Given the description of an element on the screen output the (x, y) to click on. 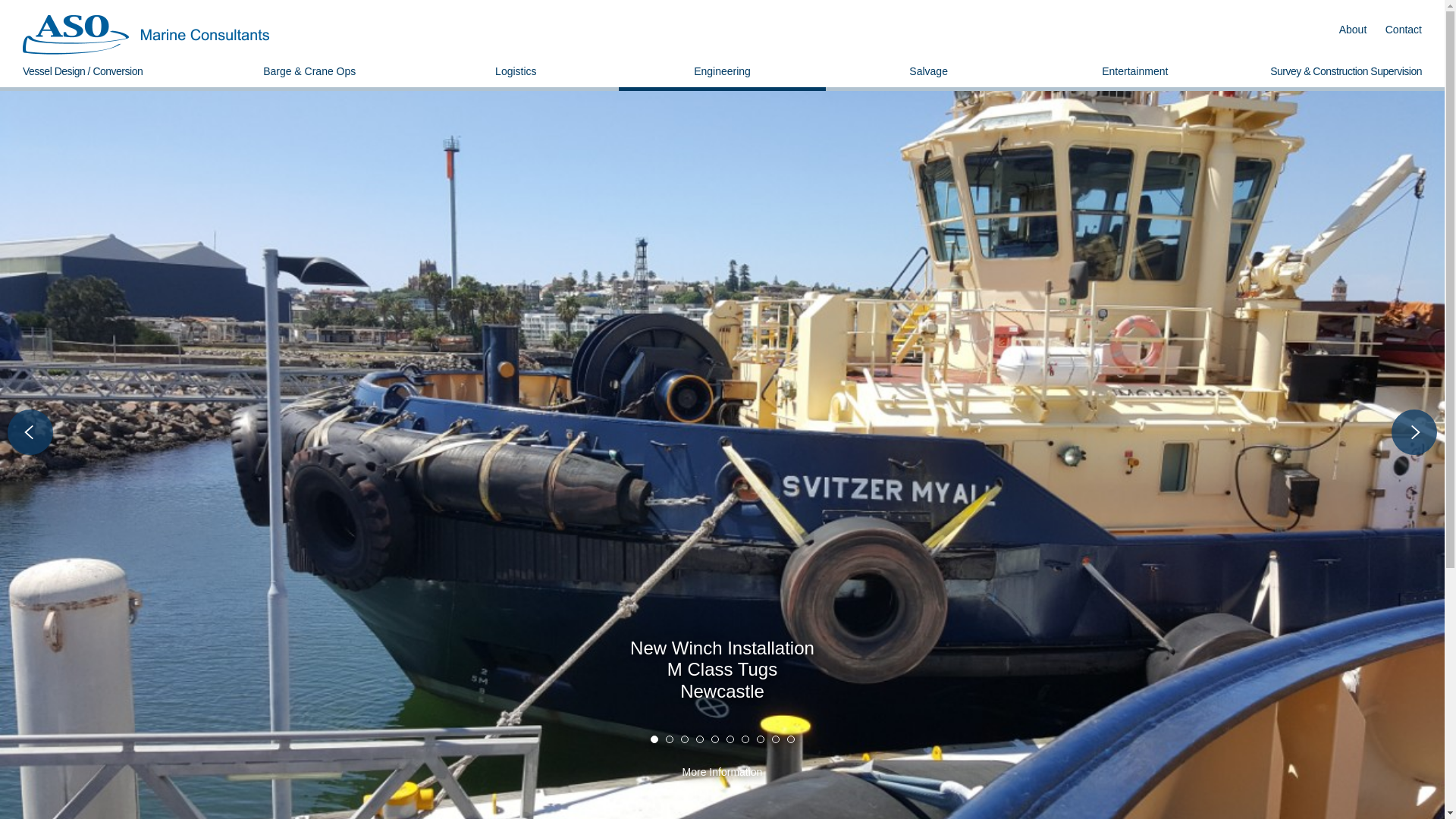
Entertainment (1135, 70)
About (1353, 29)
1 (654, 738)
10 (790, 738)
8 (760, 738)
6 (729, 738)
4 (699, 738)
More Information (721, 779)
Contact (1404, 29)
Logistics (515, 70)
3 (684, 738)
9 (774, 738)
Salvage (928, 70)
7 (745, 738)
5 (715, 738)
